Given the description of an element on the screen output the (x, y) to click on. 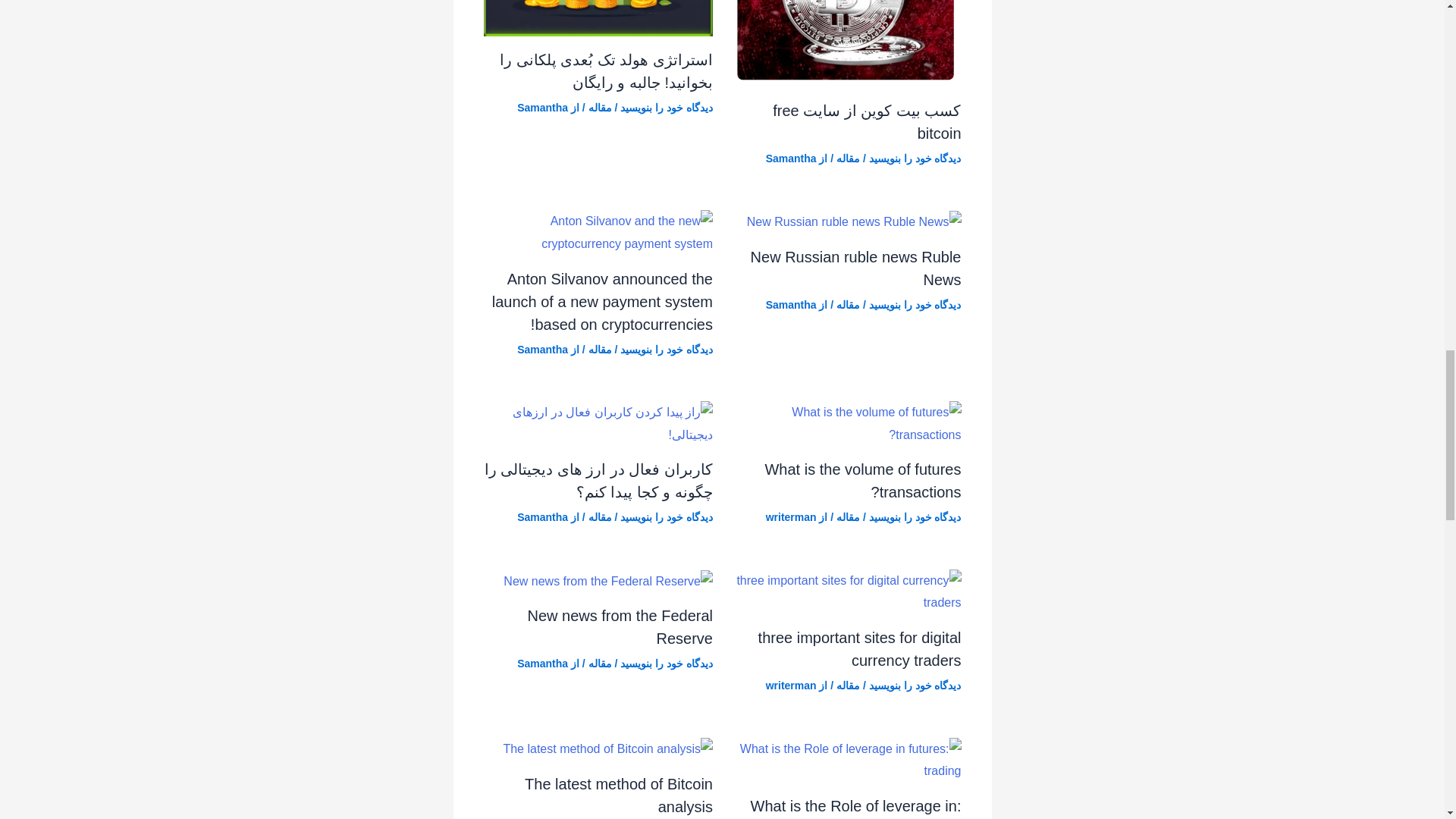
Samantha (541, 107)
Samantha (790, 304)
What is the volume of futures transactions? (862, 480)
New Russian ruble news Ruble News (855, 268)
Samantha (541, 349)
Samantha (790, 158)
